Given the description of an element on the screen output the (x, y) to click on. 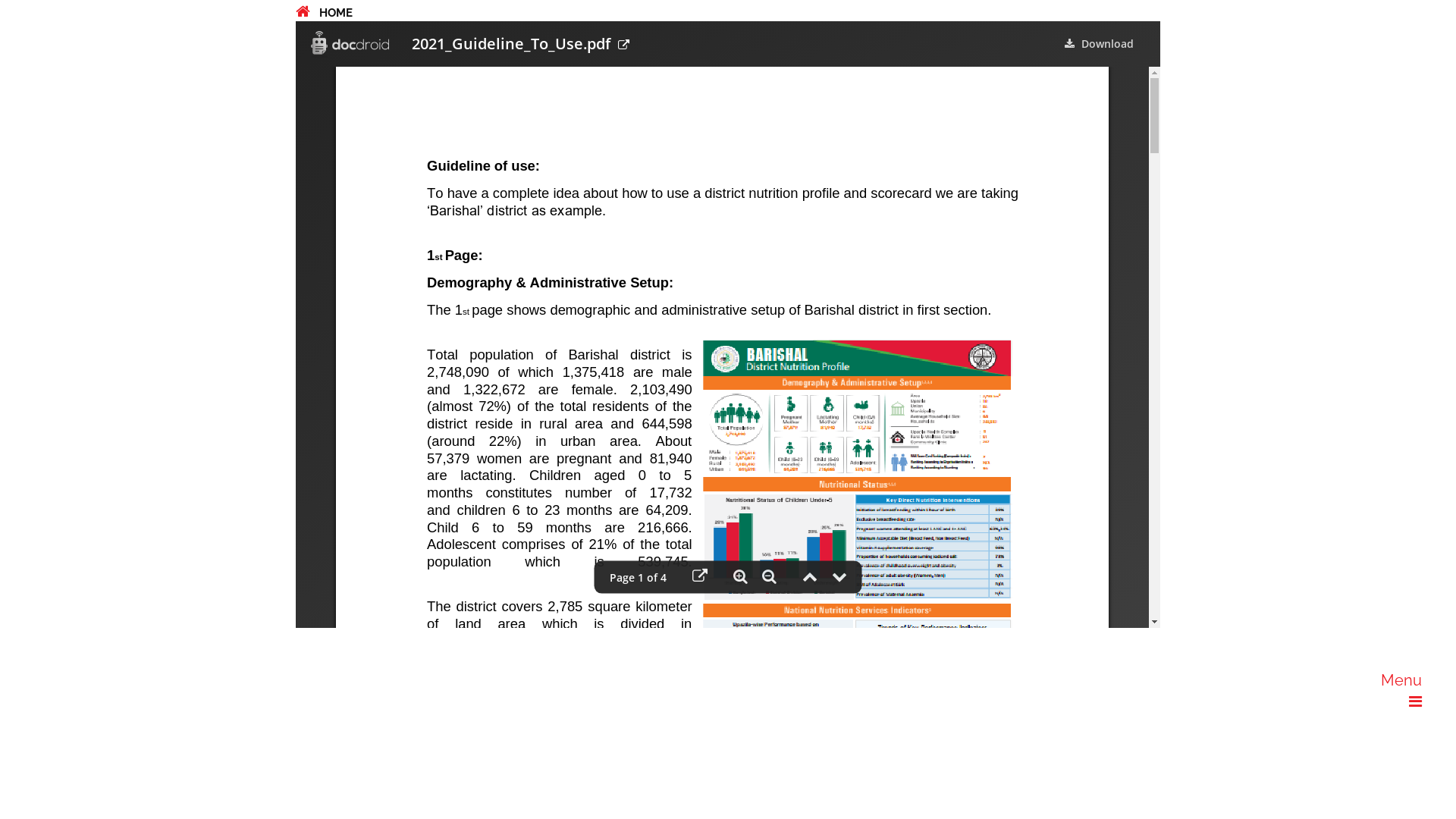
HOME Element type: text (323, 12)
